Given the description of an element on the screen output the (x, y) to click on. 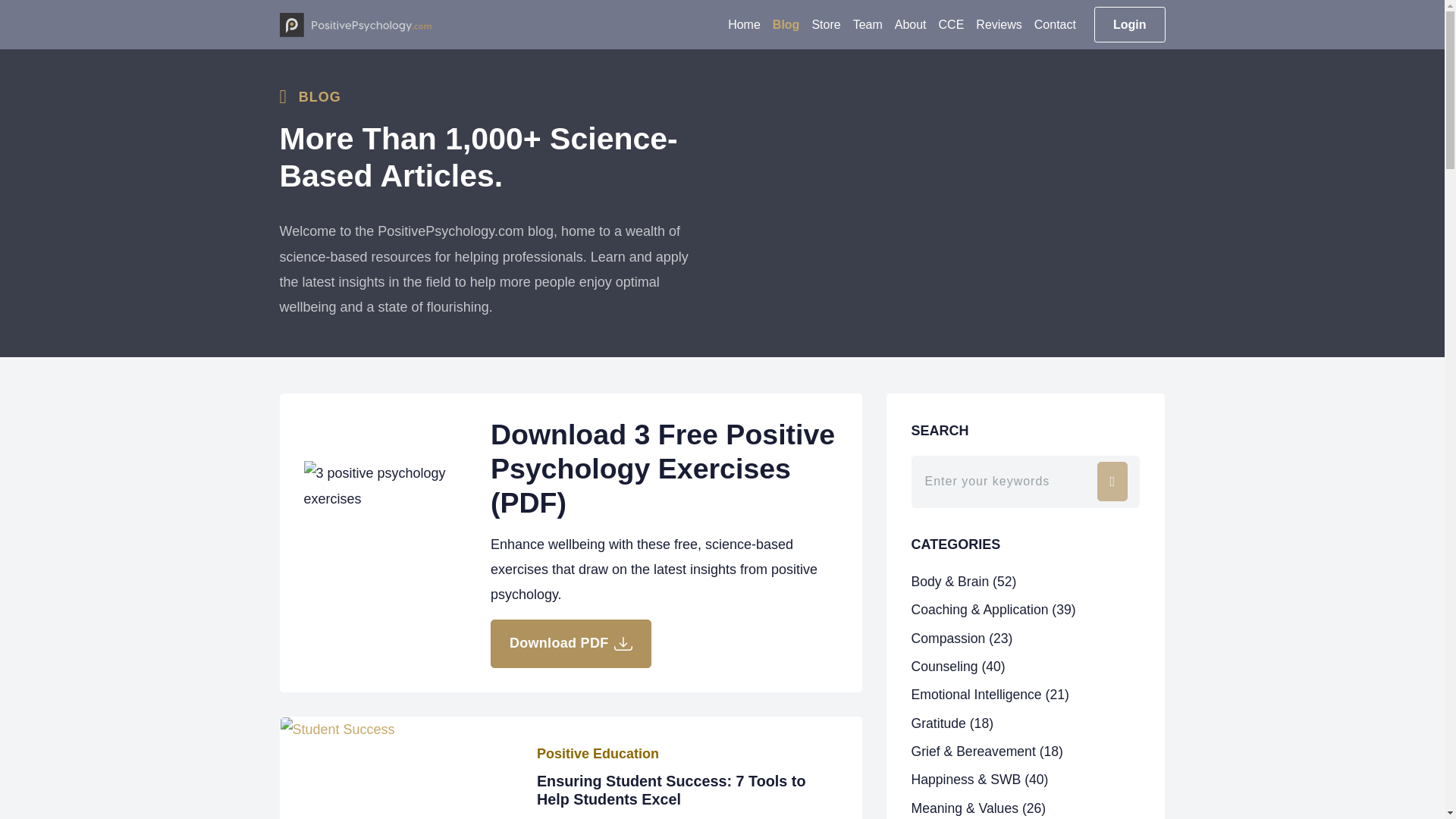
Counseling (958, 666)
Login (1130, 24)
Home (744, 24)
Reviews (998, 24)
CCE (952, 24)
Emotional Intelligence (989, 694)
PositivePsychology.com (354, 24)
Team (867, 24)
Contact (1054, 24)
Store (825, 24)
